Given the description of an element on the screen output the (x, y) to click on. 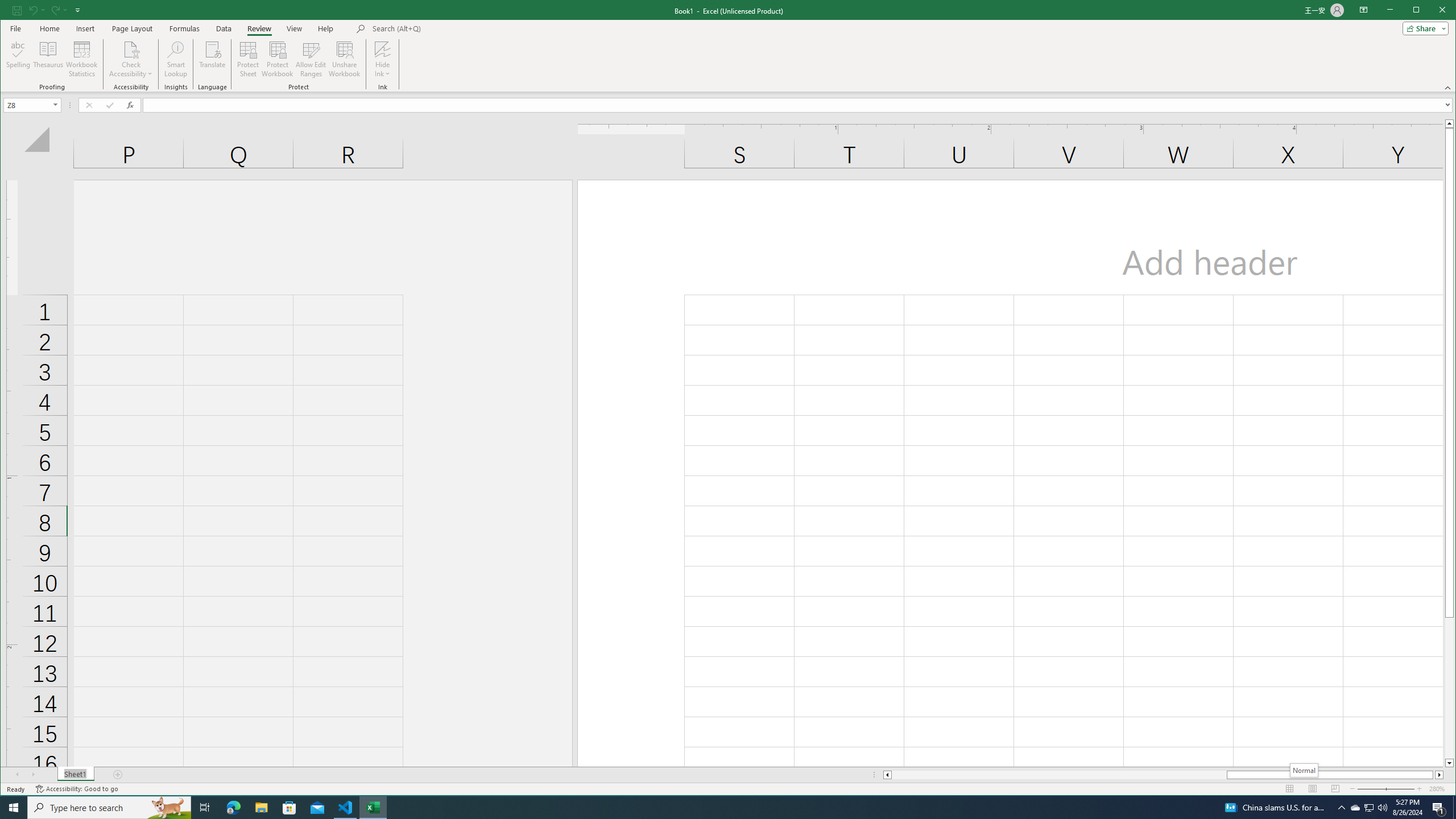
Q2790: 100% (1382, 807)
Action Center, 1 new notification (1439, 807)
Protect Sheet... (247, 59)
Running applications (717, 807)
Allow Edit Ranges (310, 59)
Sheet Tab (75, 774)
Microsoft Edge (233, 807)
